Given the description of an element on the screen output the (x, y) to click on. 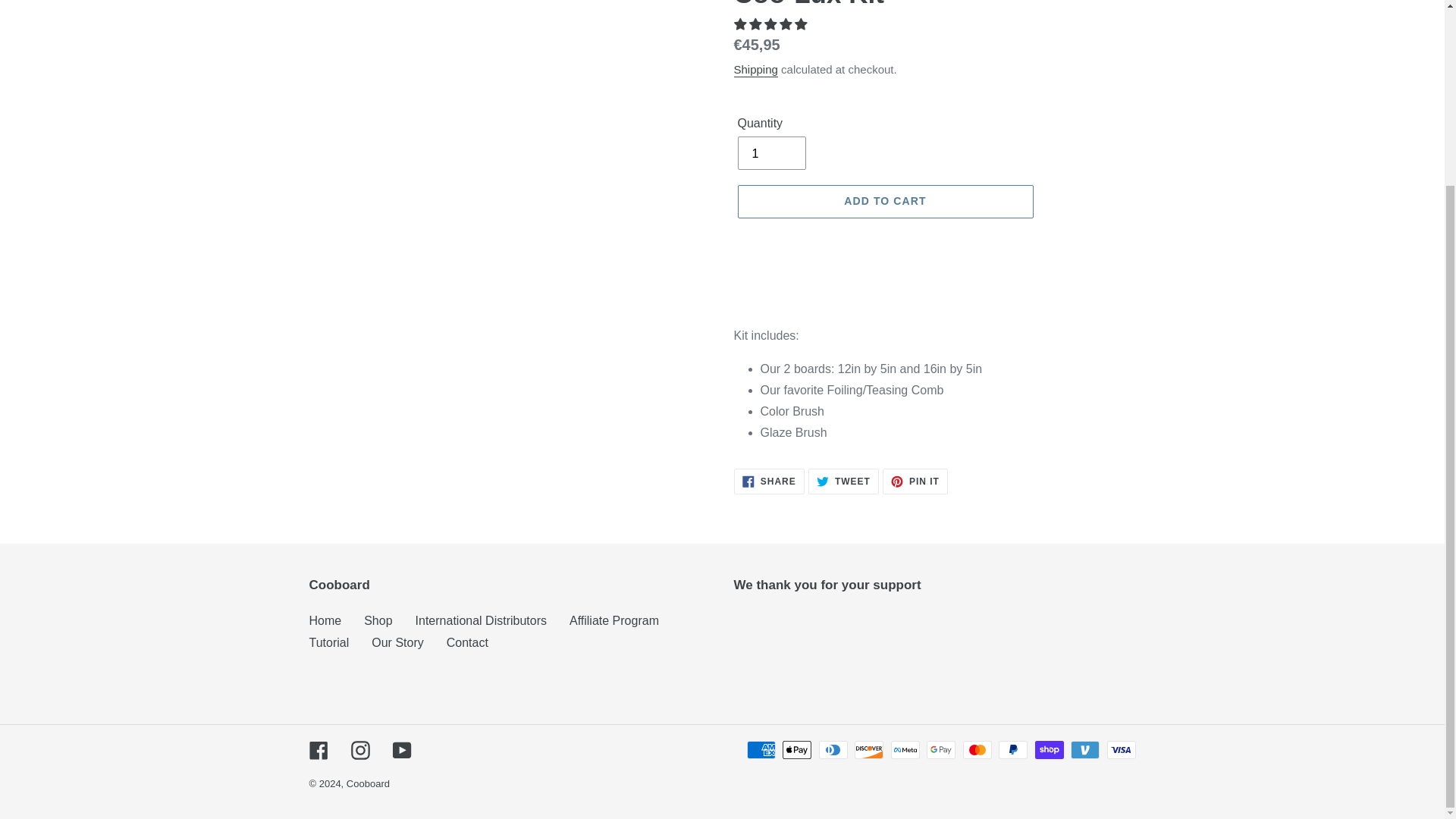
Shop (377, 620)
1 (914, 481)
Home (770, 152)
ADD TO CART (325, 620)
International Distributors (884, 201)
Shipping (480, 620)
